Given the description of an element on the screen output the (x, y) to click on. 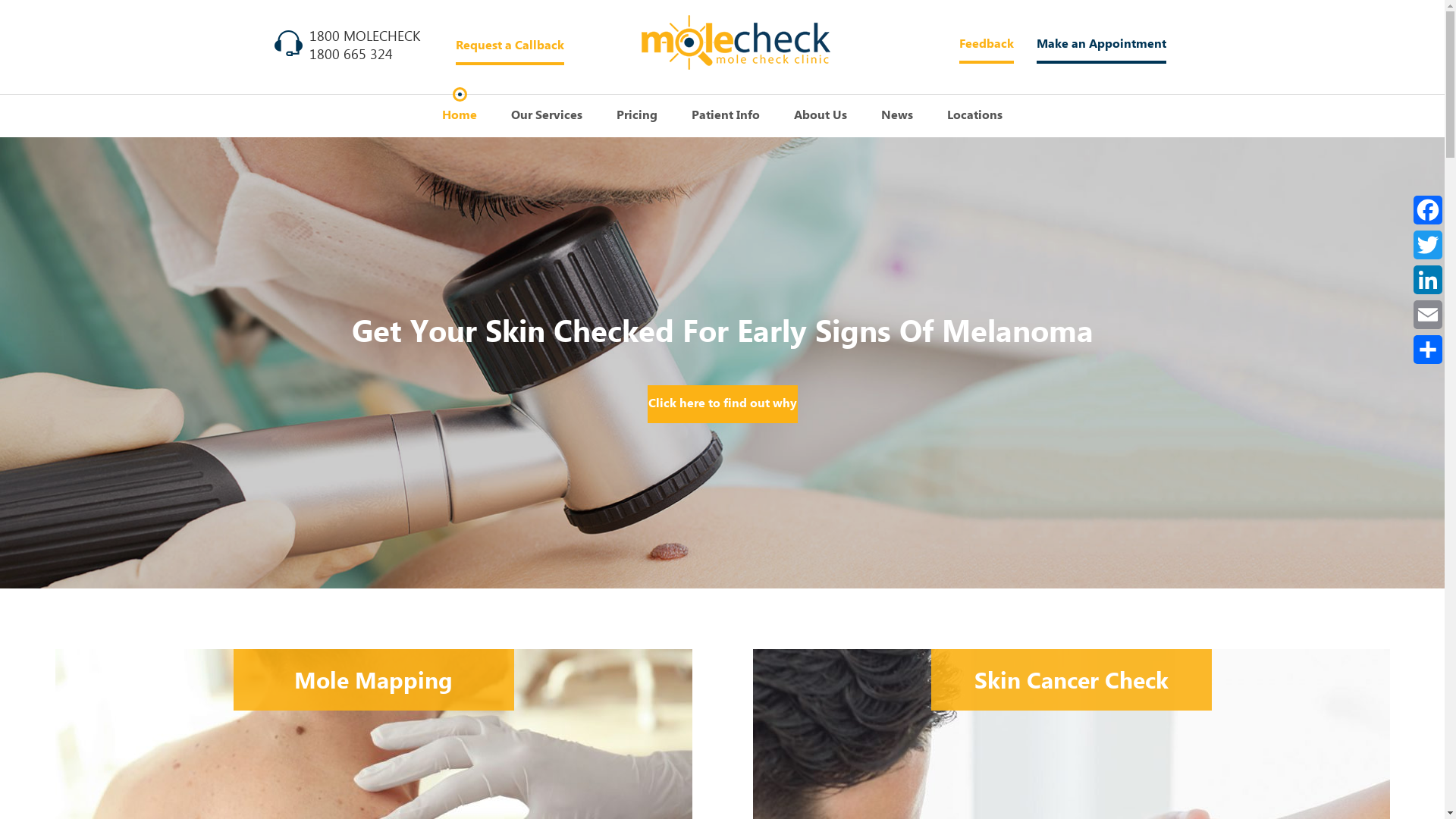
Pricing Element type: text (636, 115)
Make an Appointment Element type: text (1100, 44)
Facebook Element type: text (1427, 209)
1800 MOLECHECK Element type: text (364, 36)
About Us Element type: text (820, 115)
Locations Element type: text (974, 115)
Patient Info Element type: text (725, 115)
Feedback Element type: text (985, 44)
Share Element type: text (1427, 349)
Mole Check Clinic Element type: hover (735, 42)
LinkedIn Element type: text (1427, 279)
Home Element type: text (459, 115)
1800 665 324 Element type: text (350, 55)
Email Element type: text (1427, 314)
Request a Callback Element type: text (509, 46)
Our Services Element type: text (546, 115)
Twitter Element type: text (1427, 244)
News Element type: text (897, 115)
Click here to find out why Element type: text (722, 404)
